Given the description of an element on the screen output the (x, y) to click on. 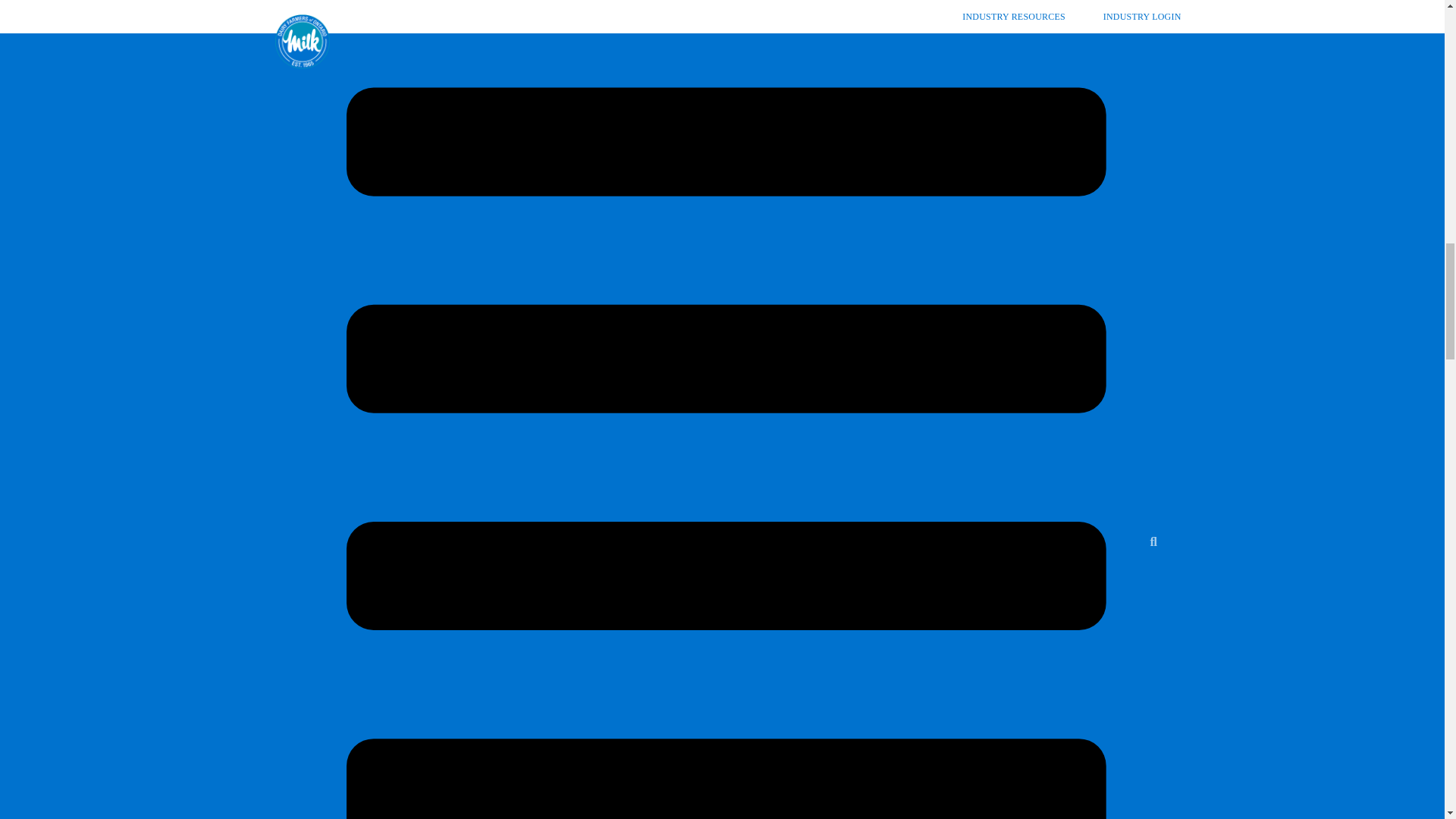
Share on Facebook (181, 41)
Share on Twitter (909, 41)
Email this recipe (1267, 41)
Share on Pinterest (547, 41)
